Given the description of an element on the screen output the (x, y) to click on. 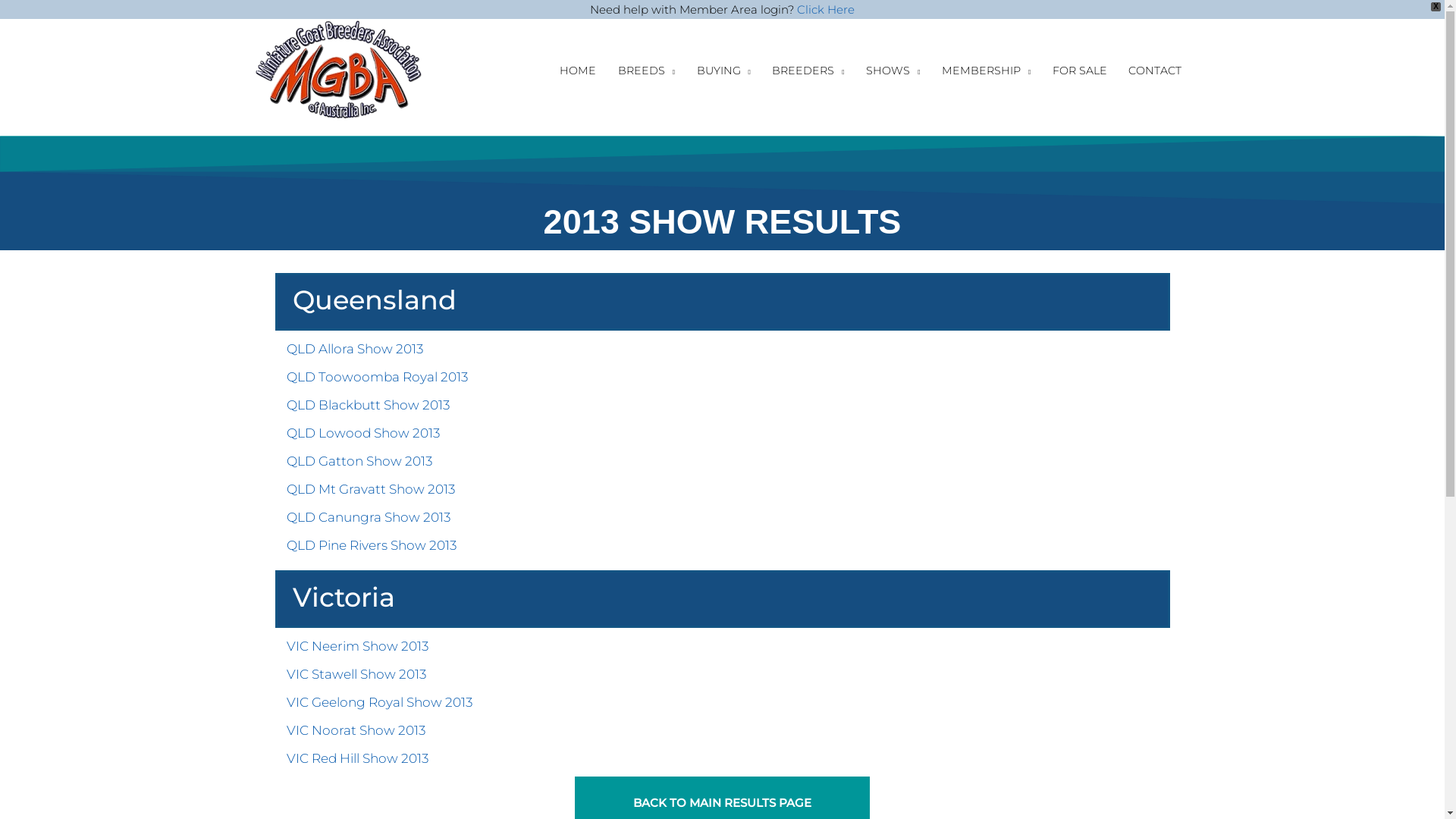
VIC Red Hill Show 2013 Element type: text (357, 757)
QLD Blackbutt Show 2013 Element type: text (367, 404)
SHOWS Element type: text (893, 69)
FOR SALE Element type: text (1079, 69)
BUYING Element type: text (723, 69)
Click Here Element type: text (825, 9)
QLD Mt Gravatt Show 2013 Element type: text (370, 488)
QLD Canungra Show 2013 Element type: text (368, 516)
BACK TO MAIN RESULTS PAGE Element type: text (722, 802)
VIC Stawell Show 2013 Element type: text (356, 673)
BREEDERS Element type: text (808, 69)
VIC Neerim Show 2013 Element type: text (357, 645)
QLD Allora Show 2013 Element type: text (354, 348)
QLD Lowood Show 2013 Element type: text (362, 432)
BREEDS Element type: text (646, 69)
VIC Noorat Show 2013 Element type: text (355, 729)
QLD Toowoomba Royal 2013 Element type: text (376, 376)
VIC Geelong Royal Show 2013 Element type: text (379, 701)
QLD Gatton Show 2013 Element type: text (359, 460)
QLD Pine Rivers Show 2013 Element type: text (371, 544)
MEMBERSHIP Element type: text (986, 69)
HOME Element type: text (578, 69)
CONTACT Element type: text (1154, 69)
